Given the description of an element on the screen output the (x, y) to click on. 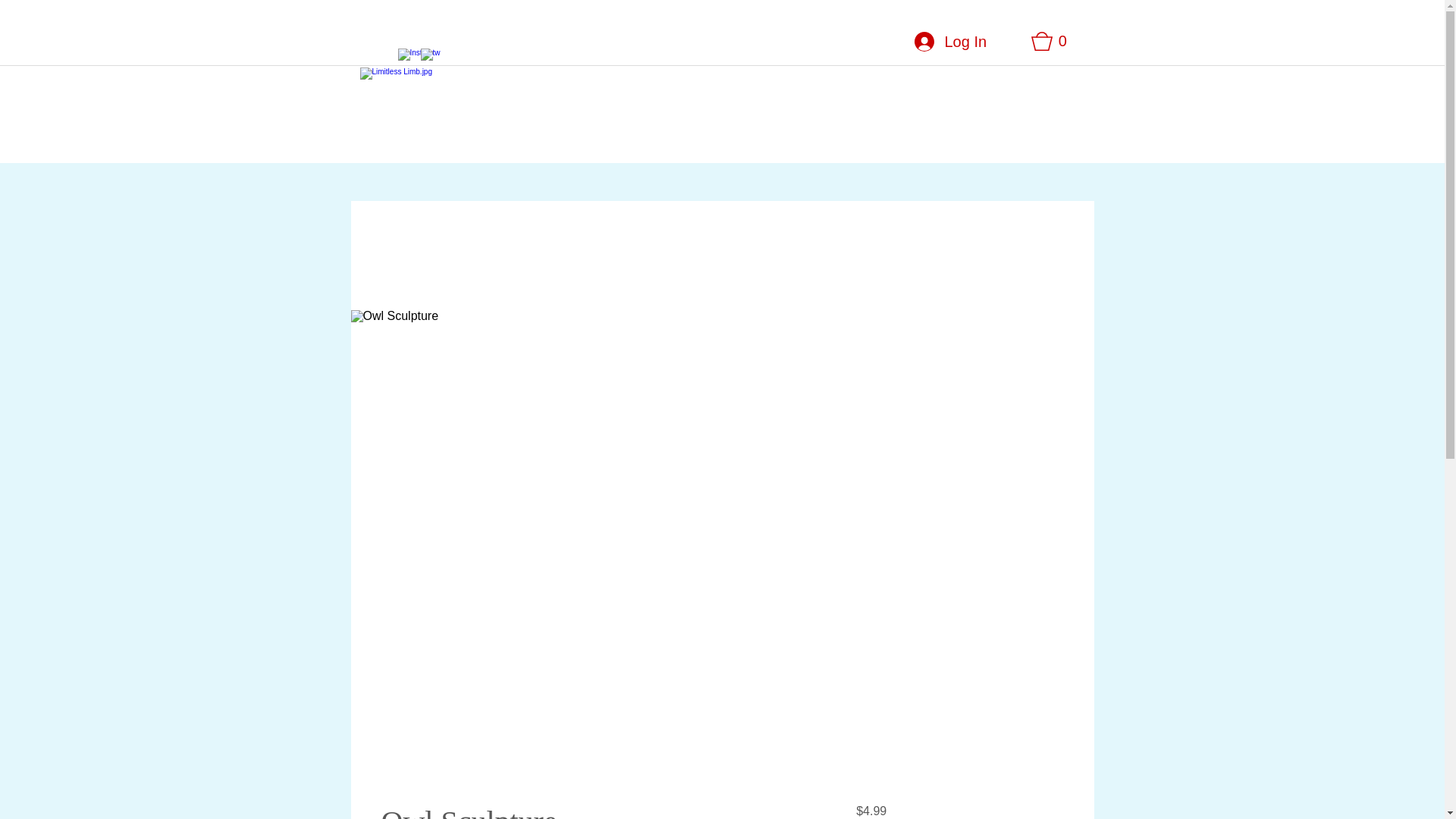
Log In (949, 41)
